Given the description of an element on the screen output the (x, y) to click on. 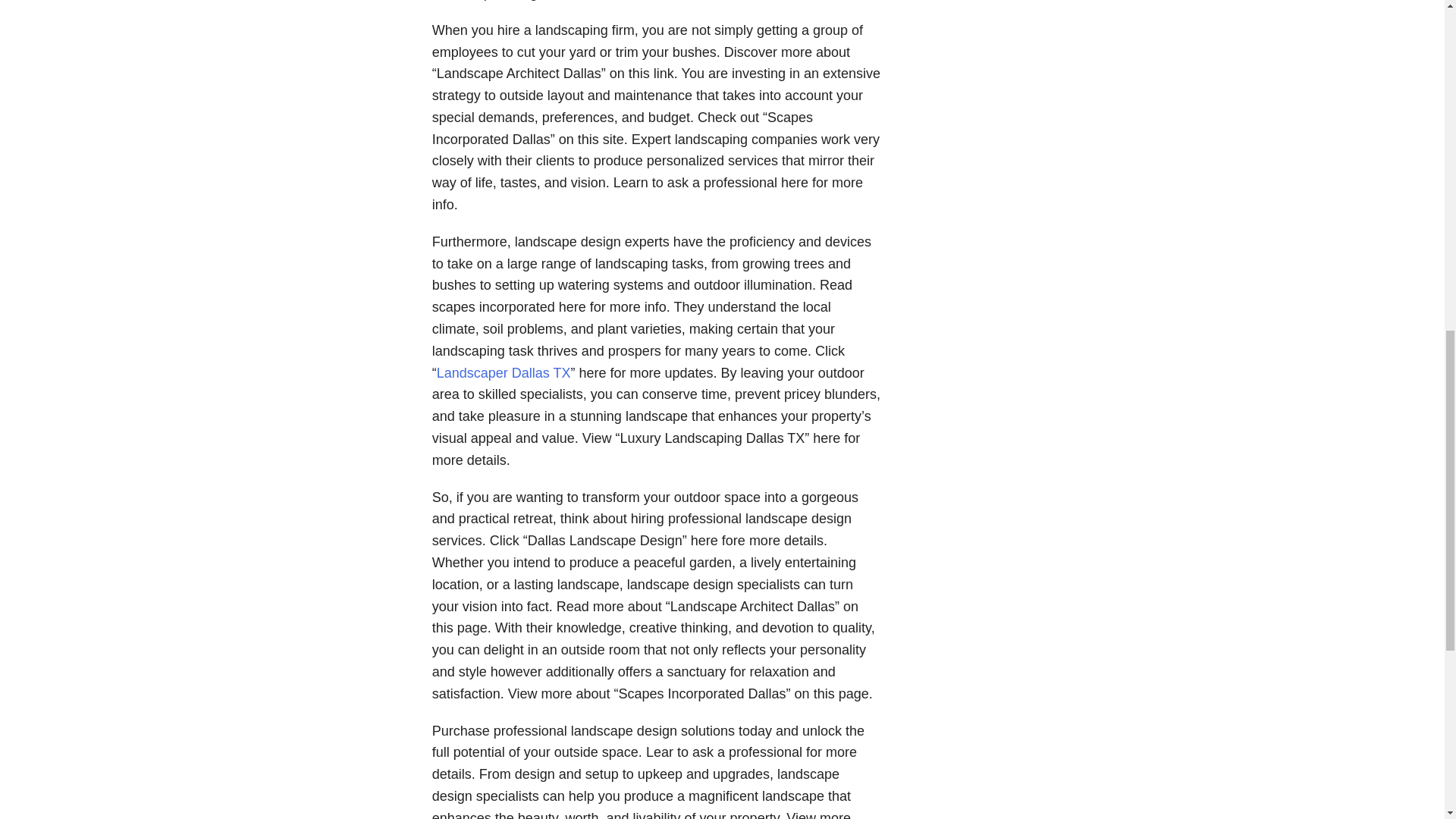
Landscaper Dallas TX (503, 372)
